Given the description of an element on the screen output the (x, y) to click on. 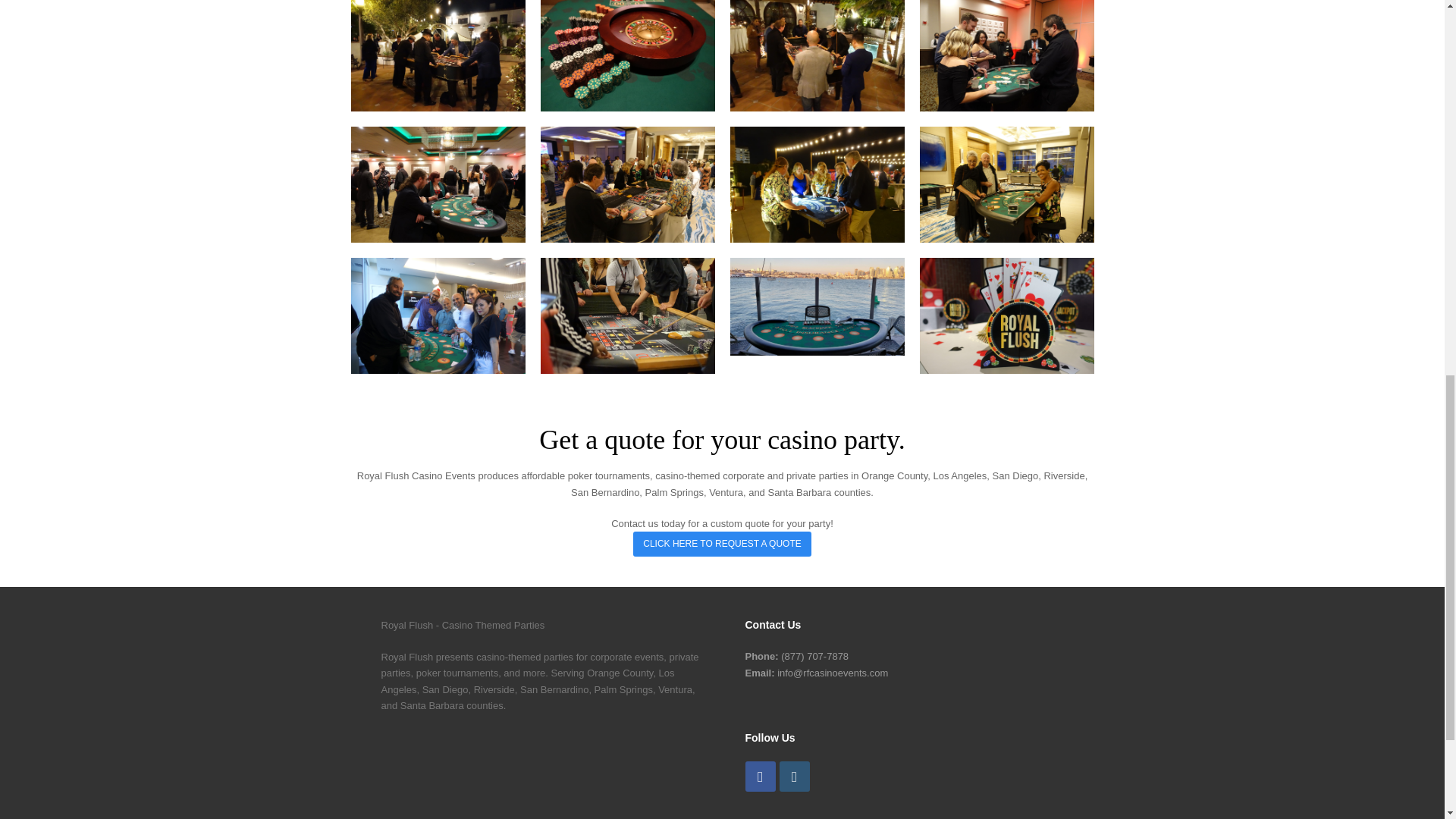
Facebook (759, 776)
Instagram (793, 776)
CLICK HERE TO REQUEST A QUOTE (721, 543)
